Given the description of an element on the screen output the (x, y) to click on. 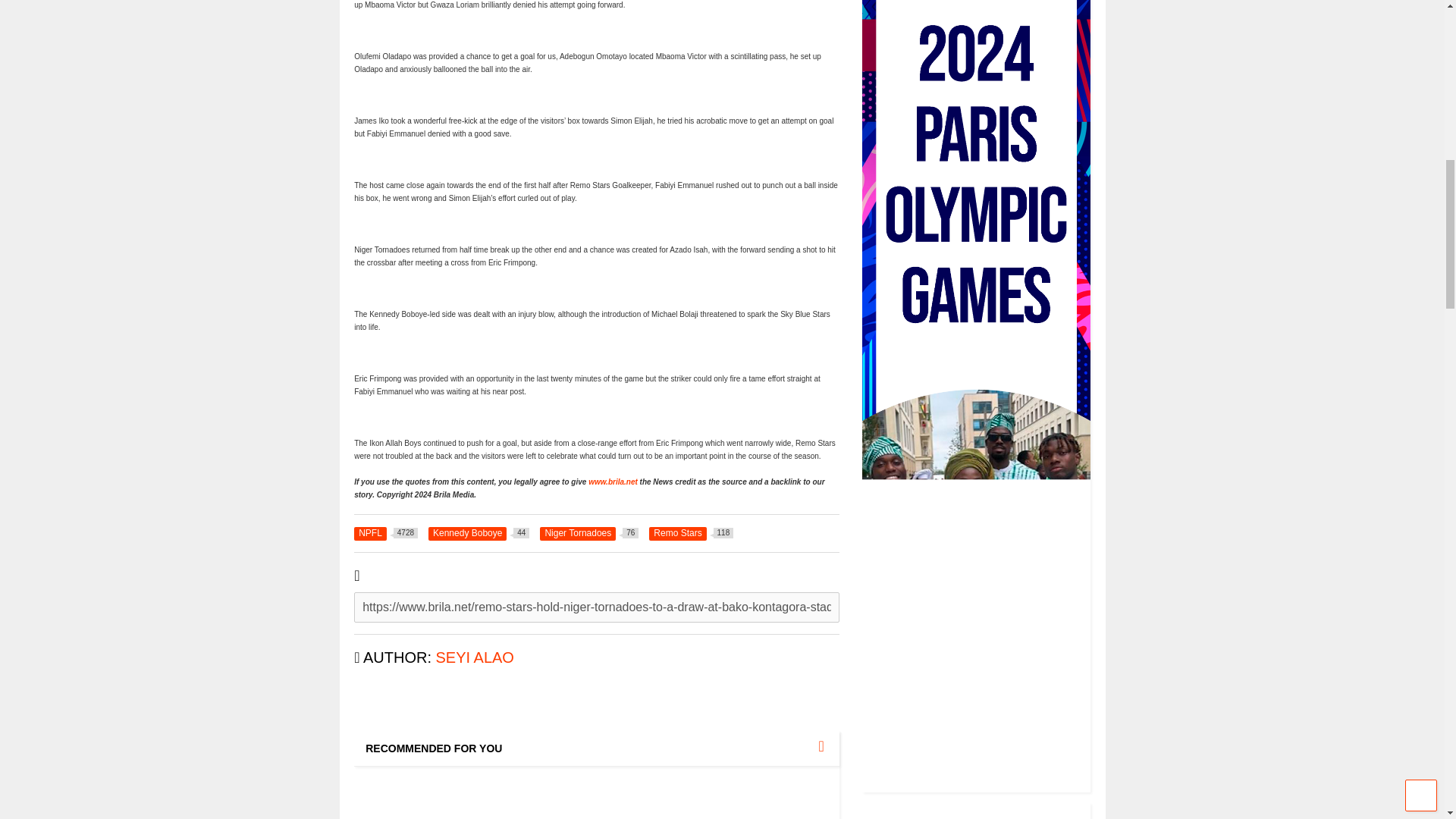
www.brila.net (478, 532)
SEYI ALAO (691, 532)
author profile (612, 481)
